Given the description of an element on the screen output the (x, y) to click on. 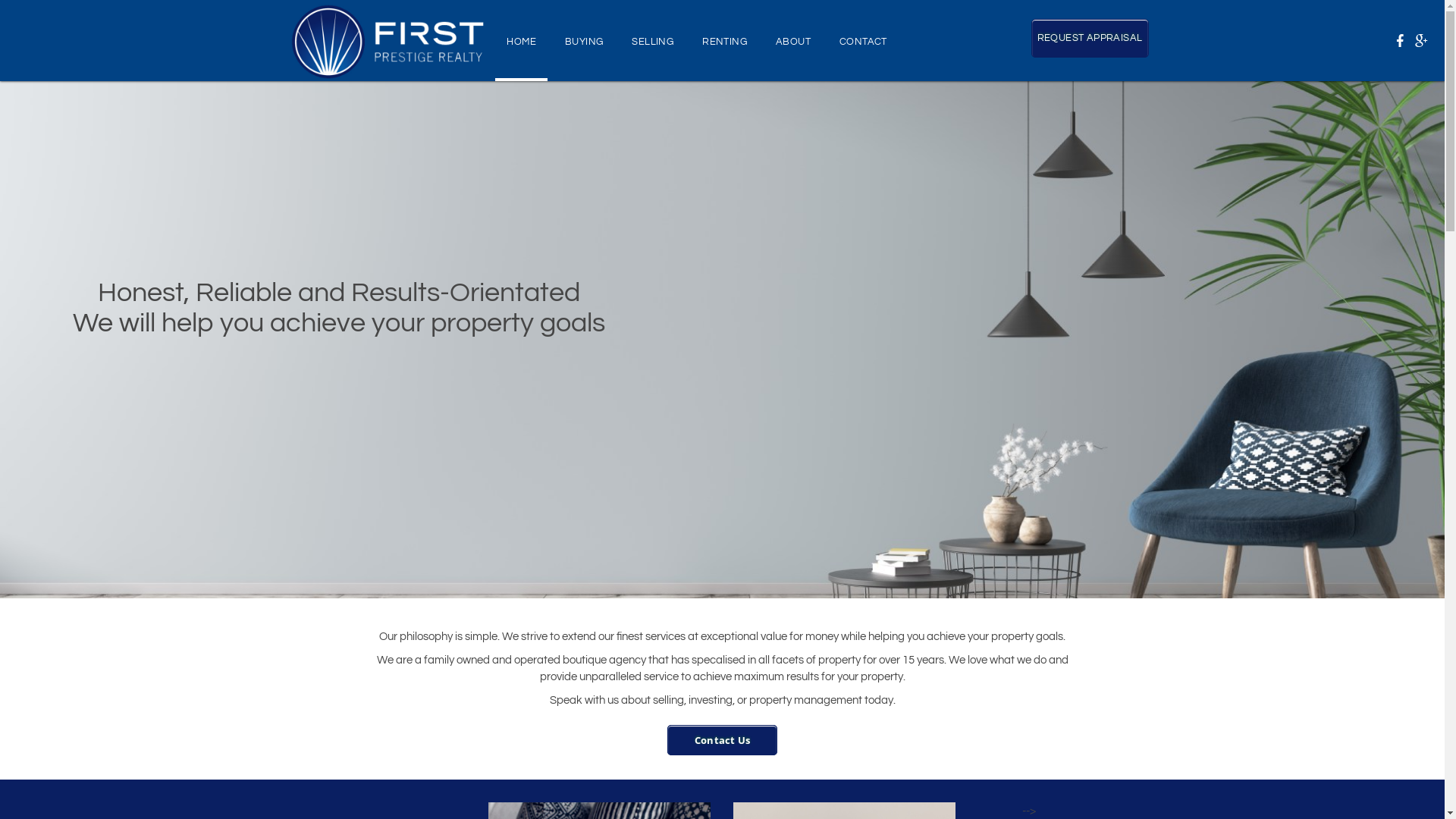
ABOUT Element type: text (793, 40)
SELLING Element type: text (652, 40)
REQUEST APPRAISAL Element type: text (1089, 37)
CONTACT Element type: text (863, 40)
RENTING Element type: text (724, 40)
BUYING Element type: text (583, 40)
HOME Element type: text (521, 40)
Contact Us Element type: text (722, 739)
